Given the description of an element on the screen output the (x, y) to click on. 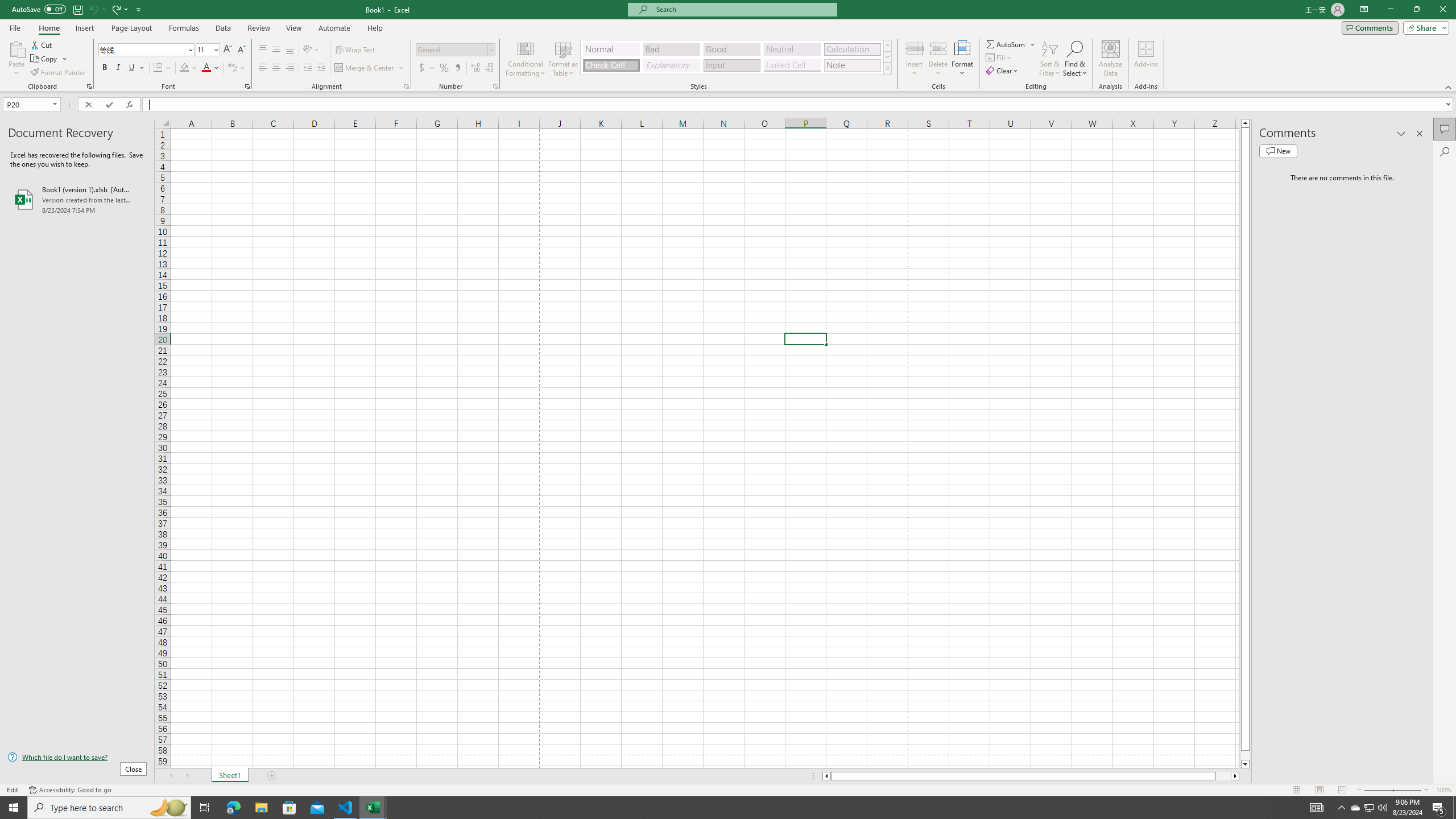
Input (731, 65)
Comments (1444, 128)
Font Color (210, 67)
Show Phonetic Field (236, 67)
Align Right (290, 67)
Delete Cells... (938, 48)
Fill Color RGB(255, 255, 0) (183, 67)
Decrease Decimal (489, 67)
Format as Table (563, 58)
Check Cell (611, 65)
Top Align (262, 49)
Page Break Preview (1342, 790)
Calculation (852, 49)
Microsoft search (742, 9)
Office Clipboard... (88, 85)
